Given the description of an element on the screen output the (x, y) to click on. 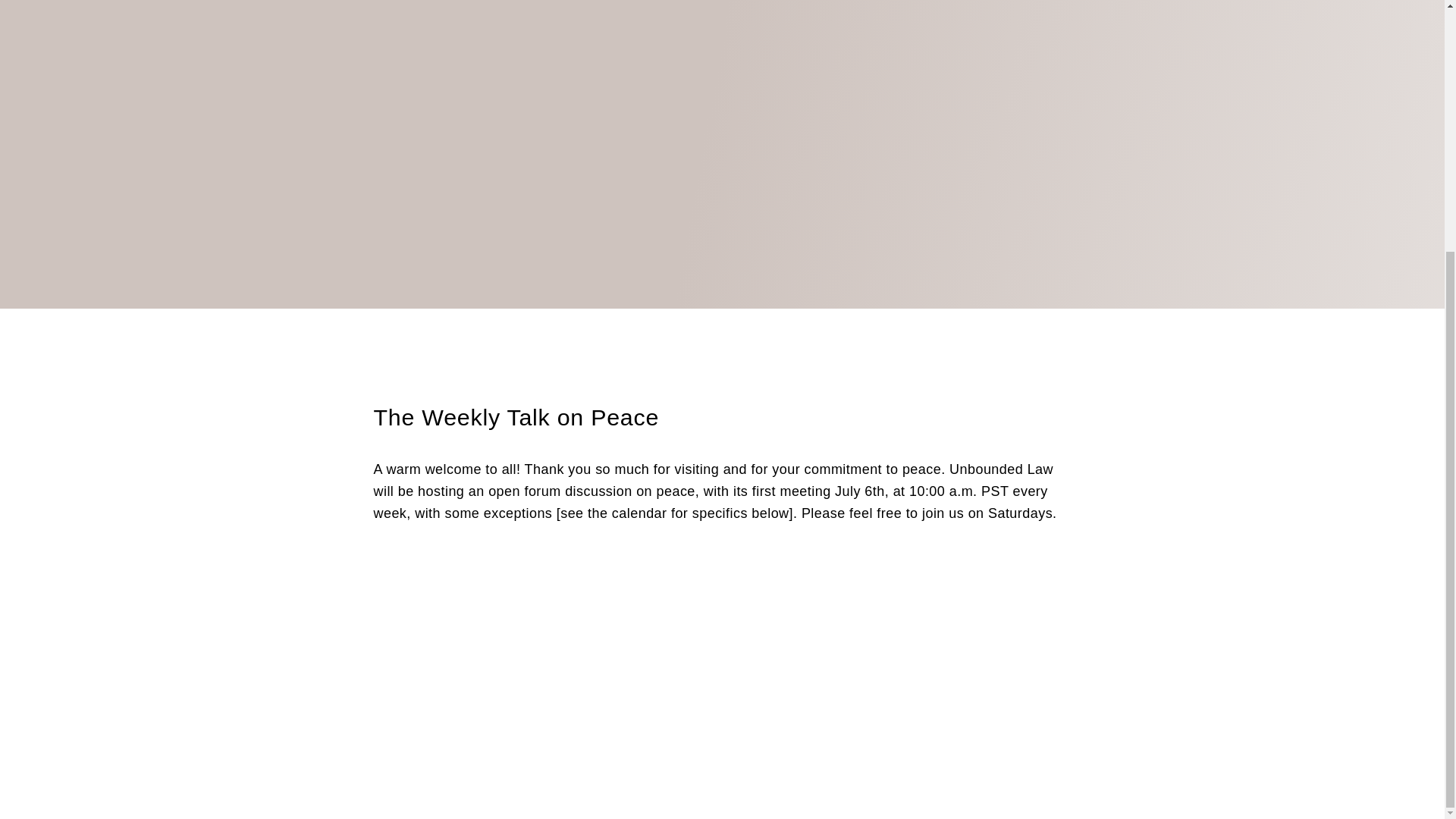
ICON-HAMBURGER (130, 511)
ICON-HAMBURGER MENU (162, 511)
